Given the description of an element on the screen output the (x, y) to click on. 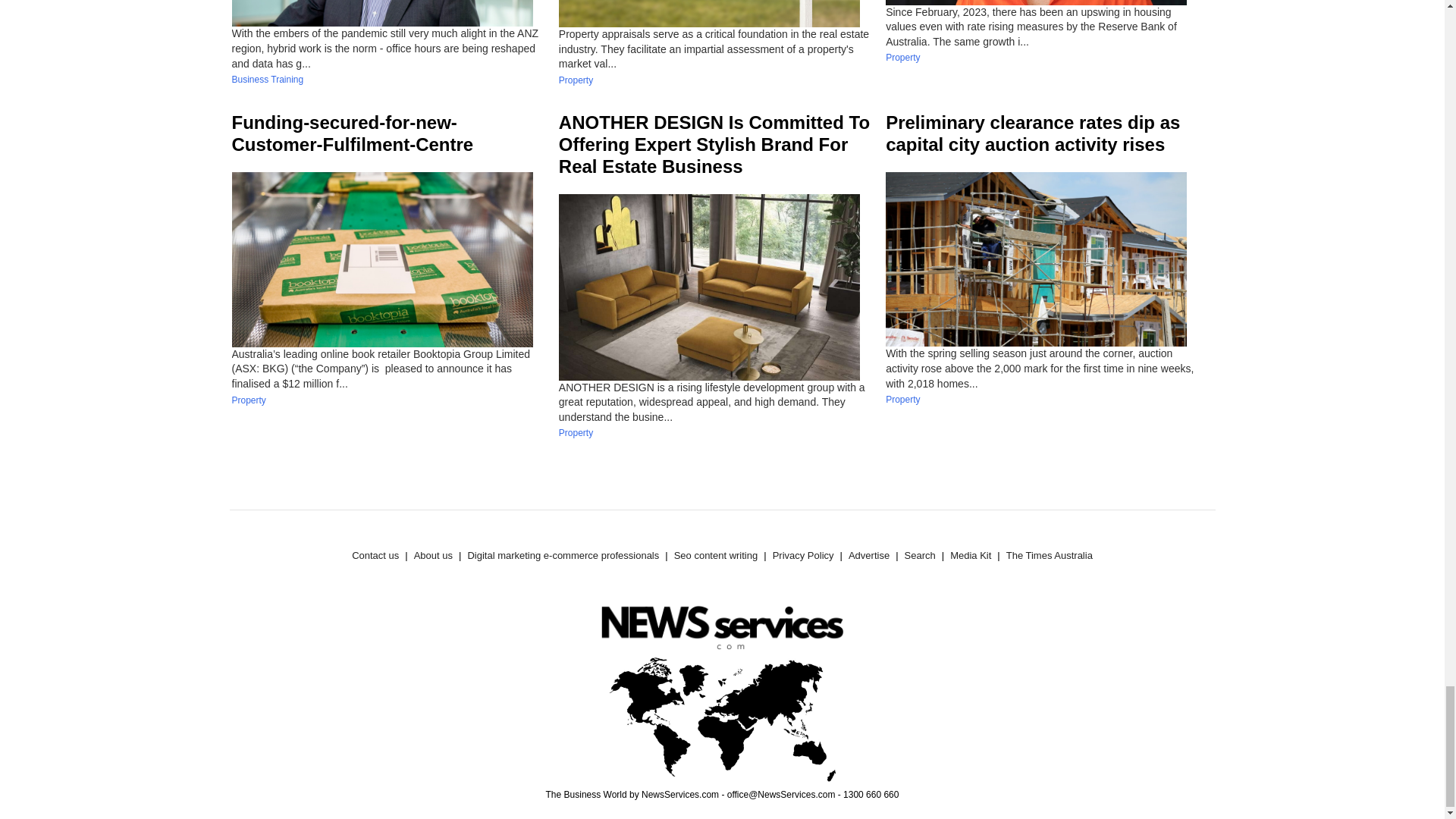
Funding-secured-for-new-Customer-Fulfilment-Centre (352, 133)
